Given the description of an element on the screen output the (x, y) to click on. 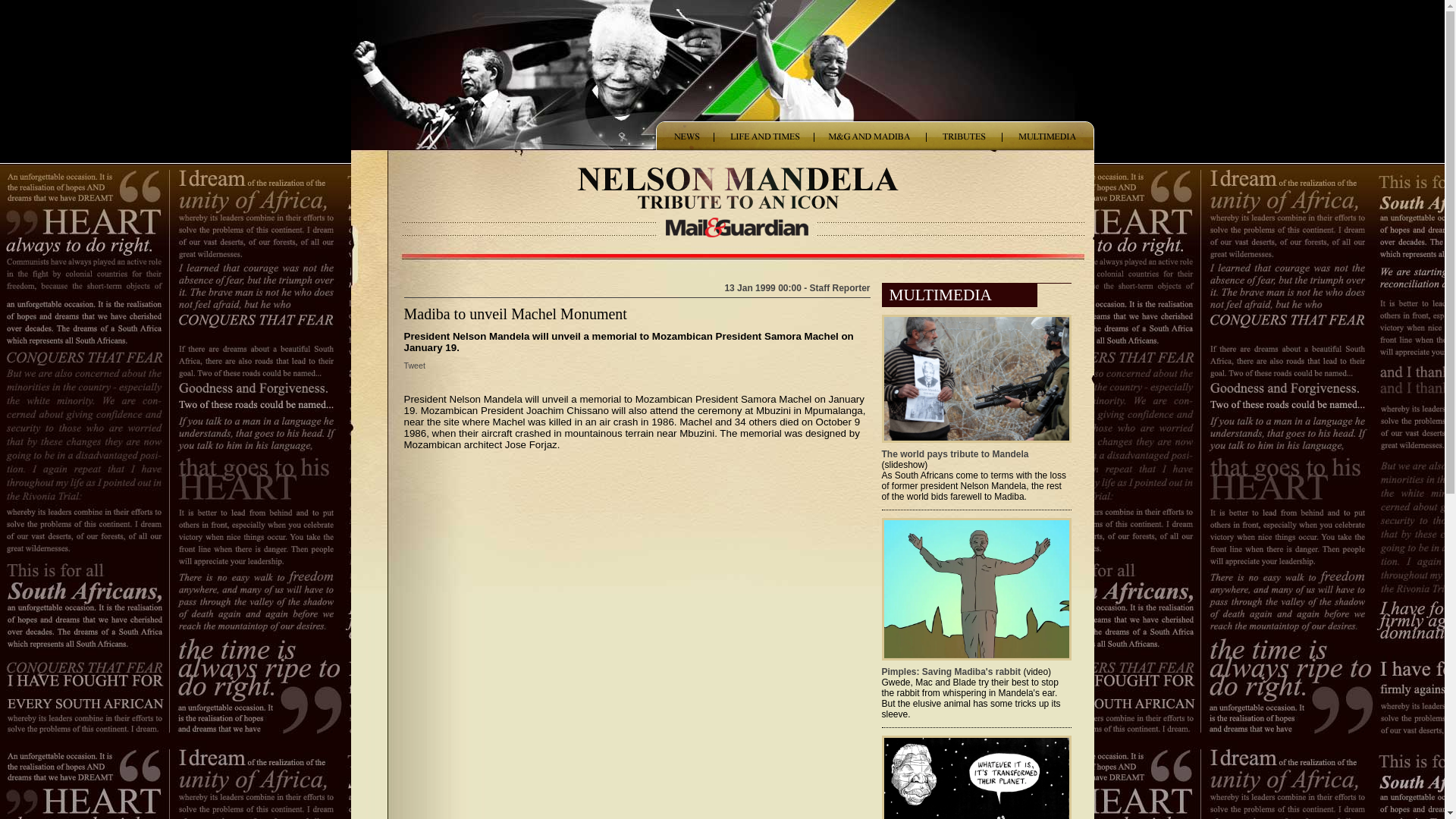
Pimples: Saving Madiba's rabbit (950, 671)
The world pays tribute to Mandela (953, 453)
Tweet (414, 365)
